Given the description of an element on the screen output the (x, y) to click on. 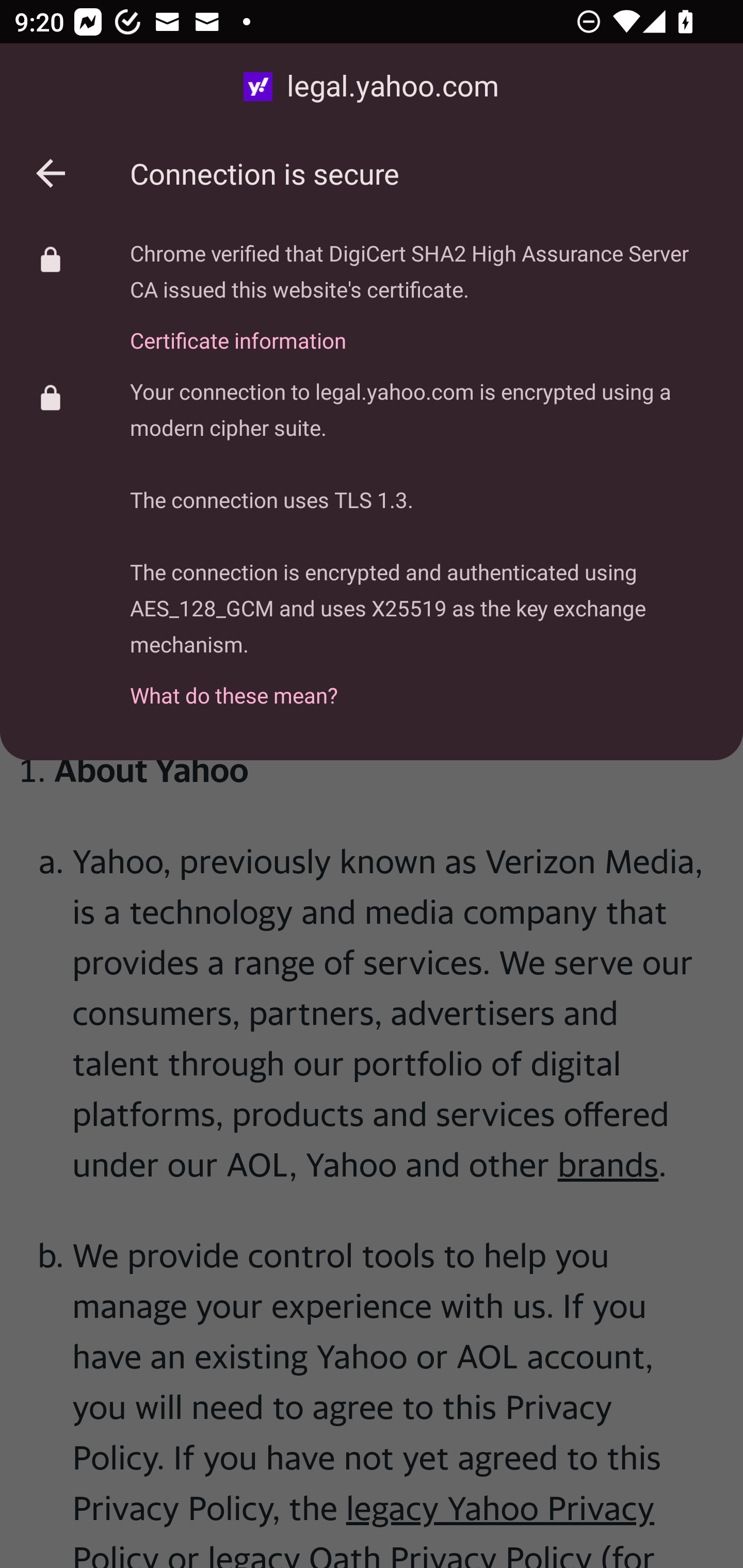
legal.yahoo.com (371, 86)
Back (50, 173)
Certificate information (422, 329)
What do these mean? (422, 684)
